Given the description of an element on the screen output the (x, y) to click on. 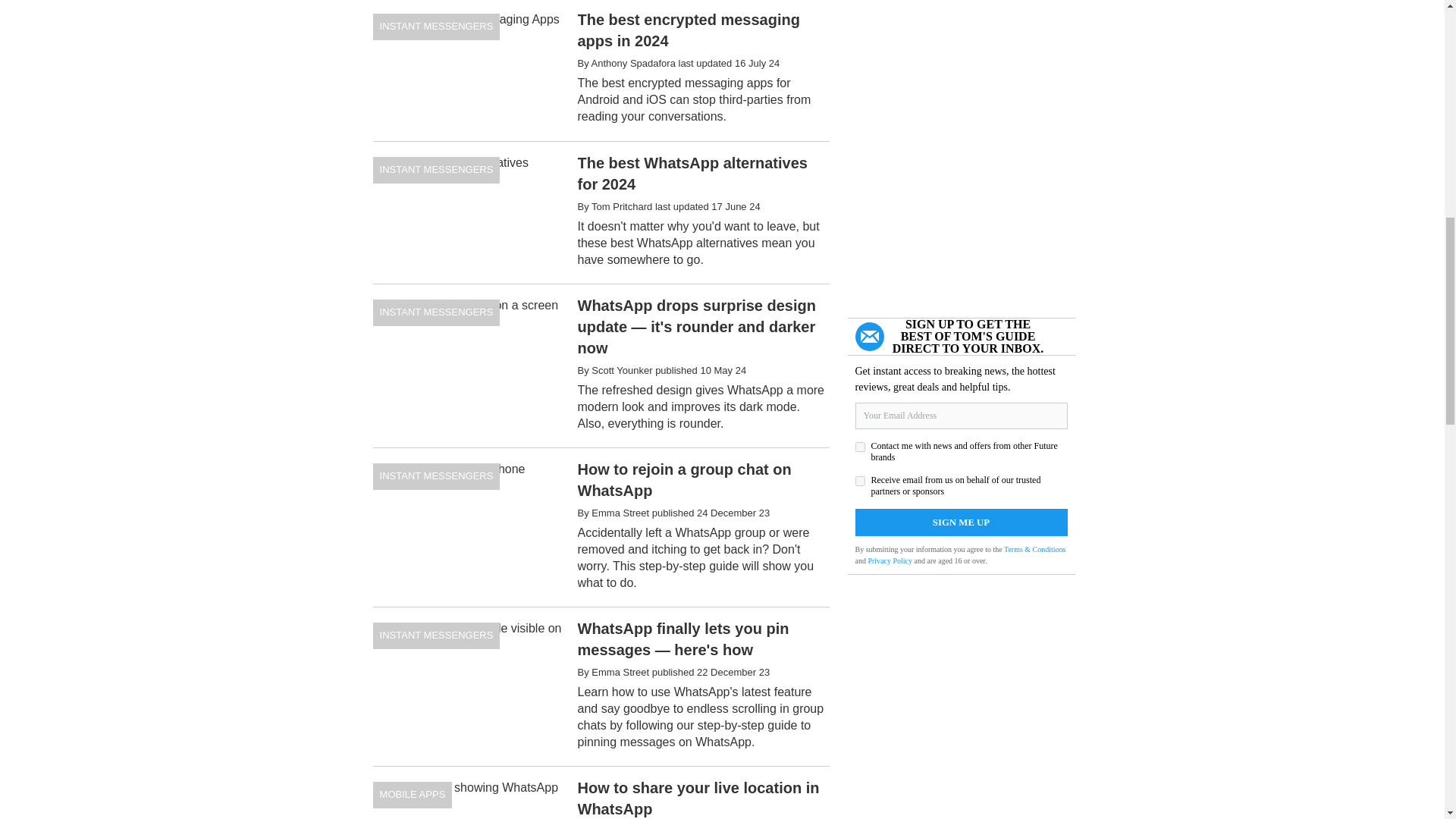
on (860, 447)
on (860, 480)
Sign me up (961, 522)
